Given the description of an element on the screen output the (x, y) to click on. 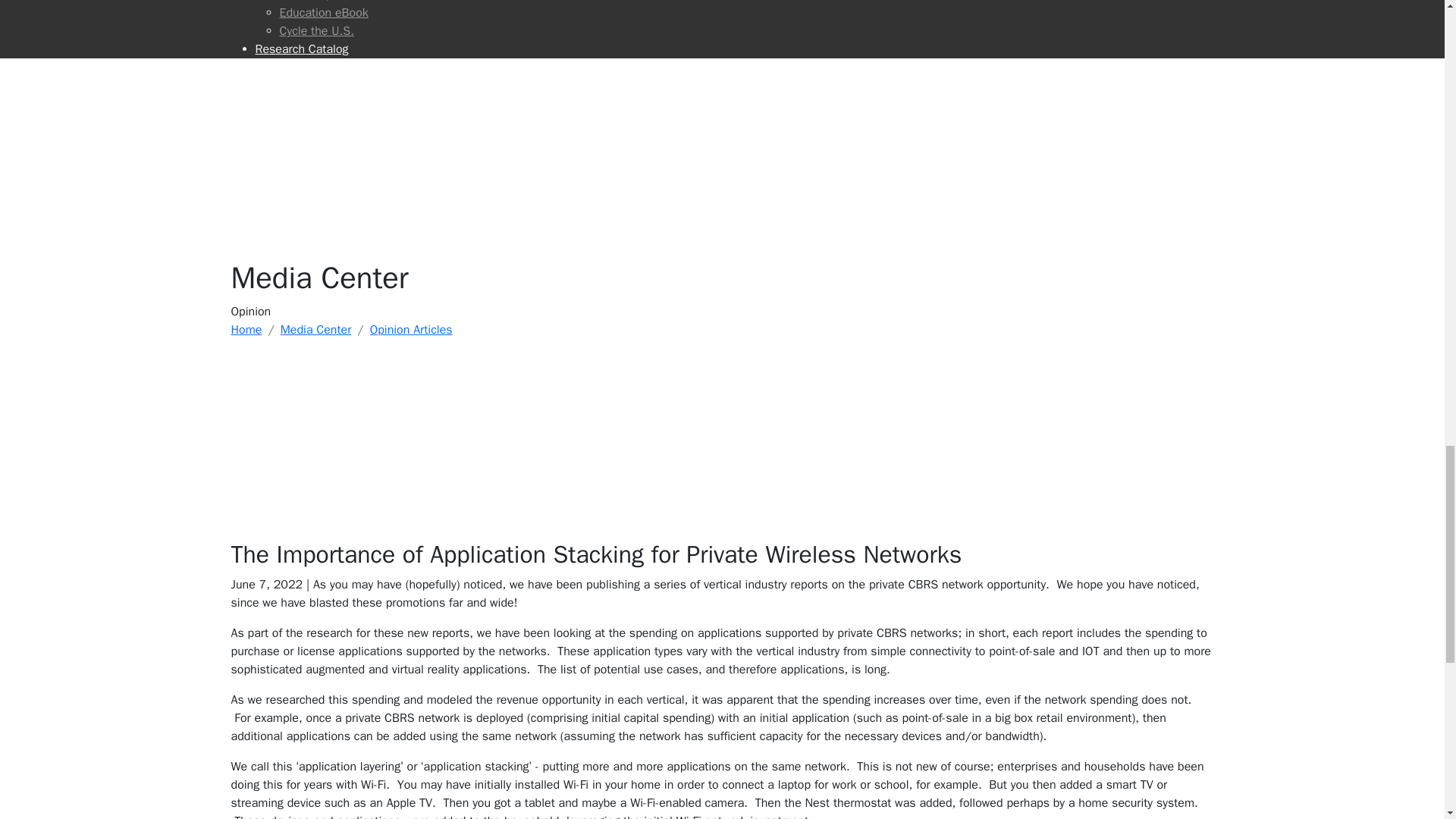
Research Catalog (733, 49)
Media Center (316, 329)
Cycle the U.S. (745, 31)
Home (246, 329)
Education eBook (745, 13)
